Given the description of an element on the screen output the (x, y) to click on. 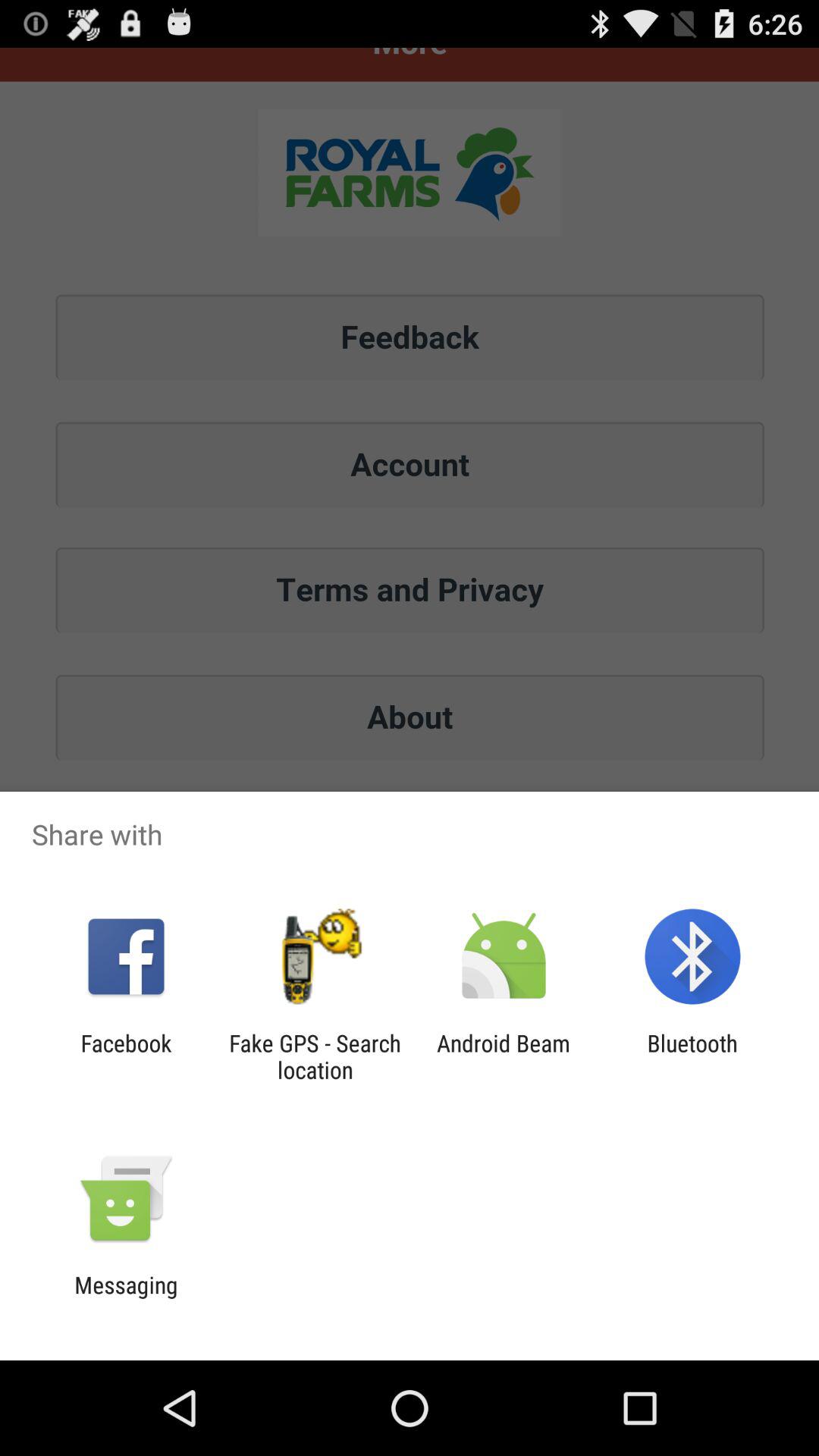
choose app next to facebook item (314, 1056)
